Given the description of an element on the screen output the (x, y) to click on. 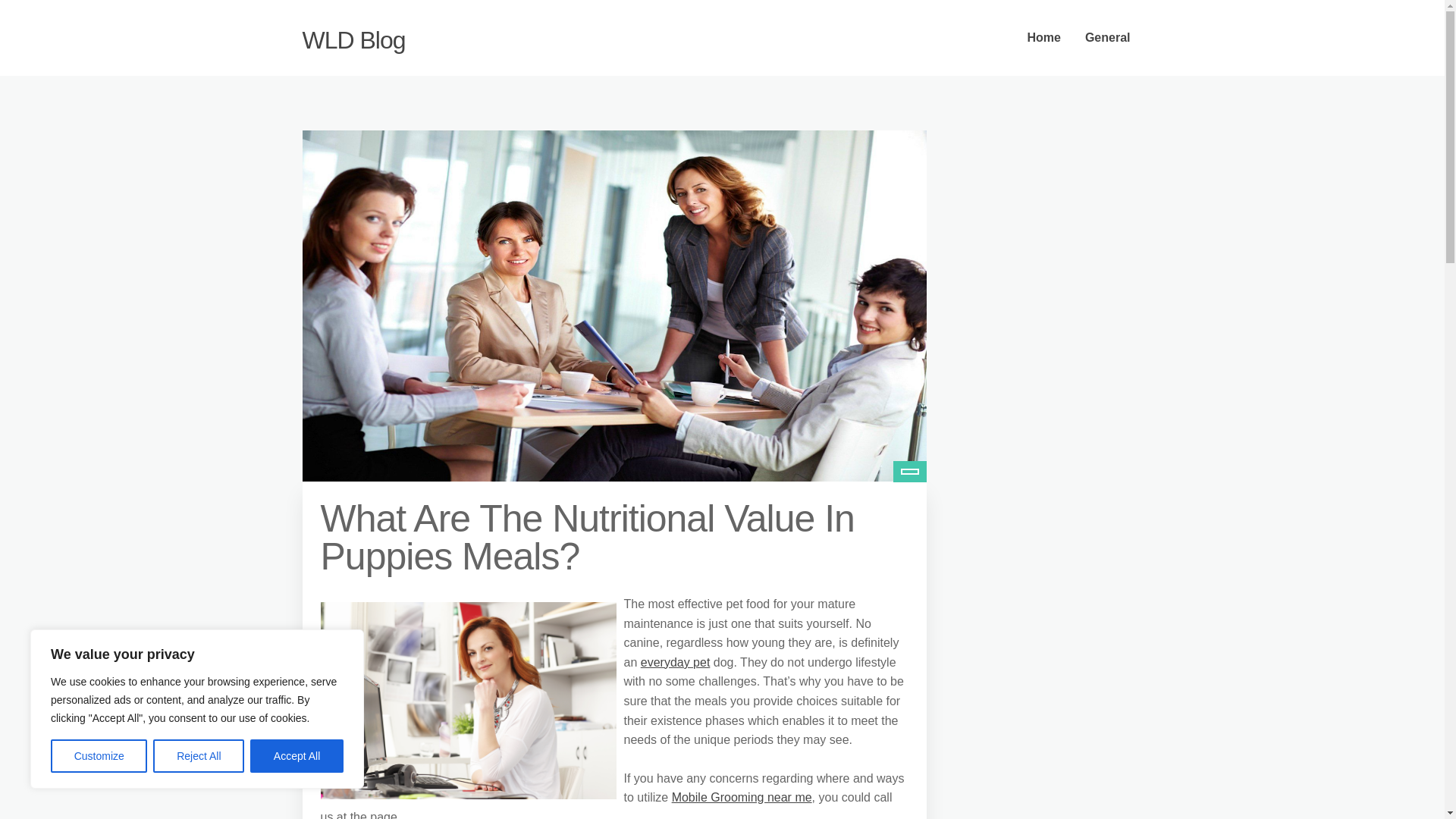
Reject All (198, 756)
General (1107, 37)
Customize (98, 756)
Accept All (296, 756)
everyday pet (675, 662)
Mobile Grooming near me (741, 797)
WLD Blog (352, 39)
Home (1042, 37)
